Given the description of an element on the screen output the (x, y) to click on. 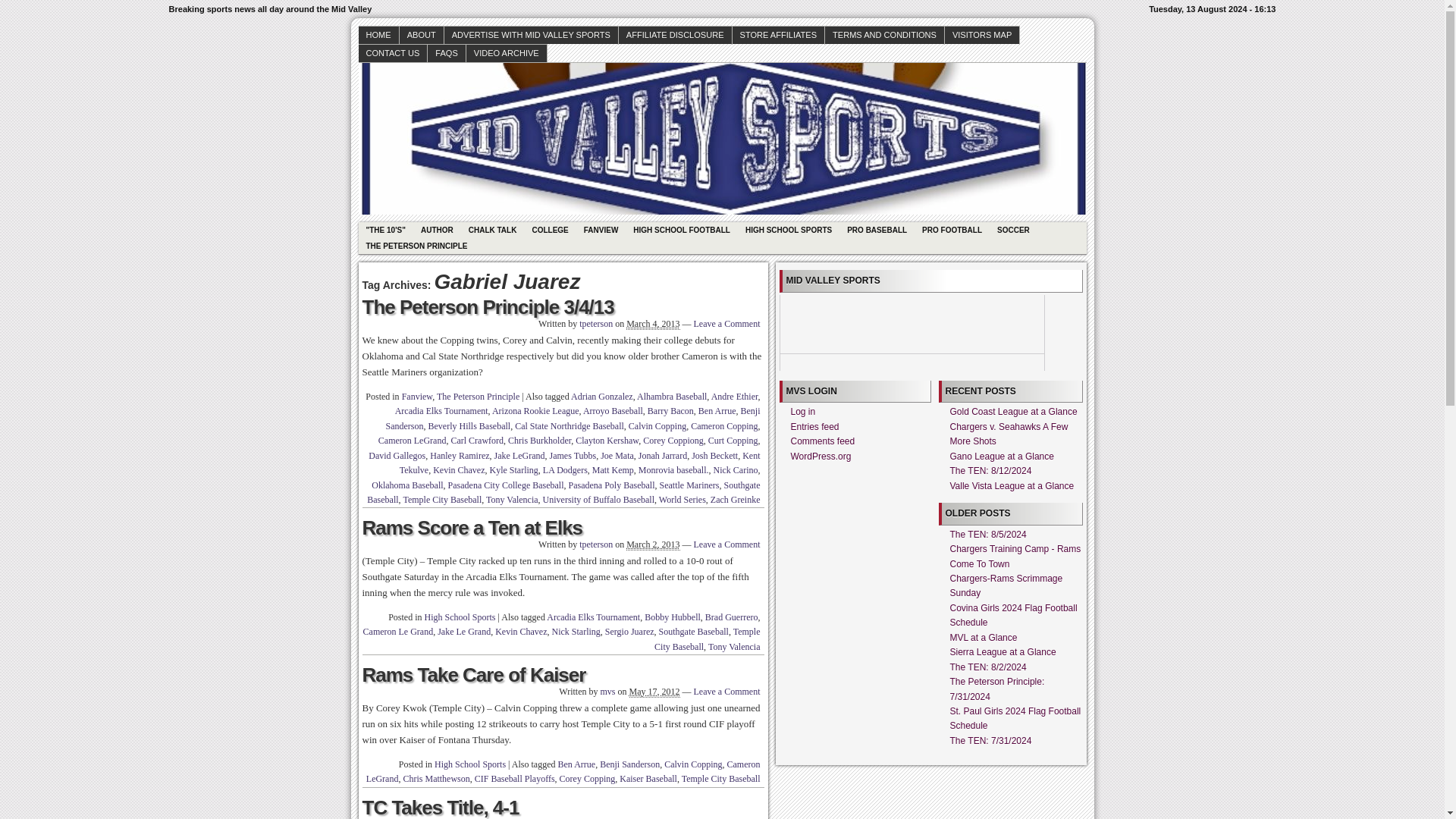
TERMS AND CONDITIONS (884, 34)
STORE AFFILIATES (778, 34)
Alhambra Baseball (671, 396)
Beverly Hills Baseball (469, 425)
View all posts by tpeterson (595, 543)
Author Opinions (601, 229)
March 2, 2013 - 3:16 pm (652, 544)
Arcadia Elks Tournament (440, 410)
Barry Bacon (670, 410)
Arizona Rookie League (535, 410)
